Given the description of an element on the screen output the (x, y) to click on. 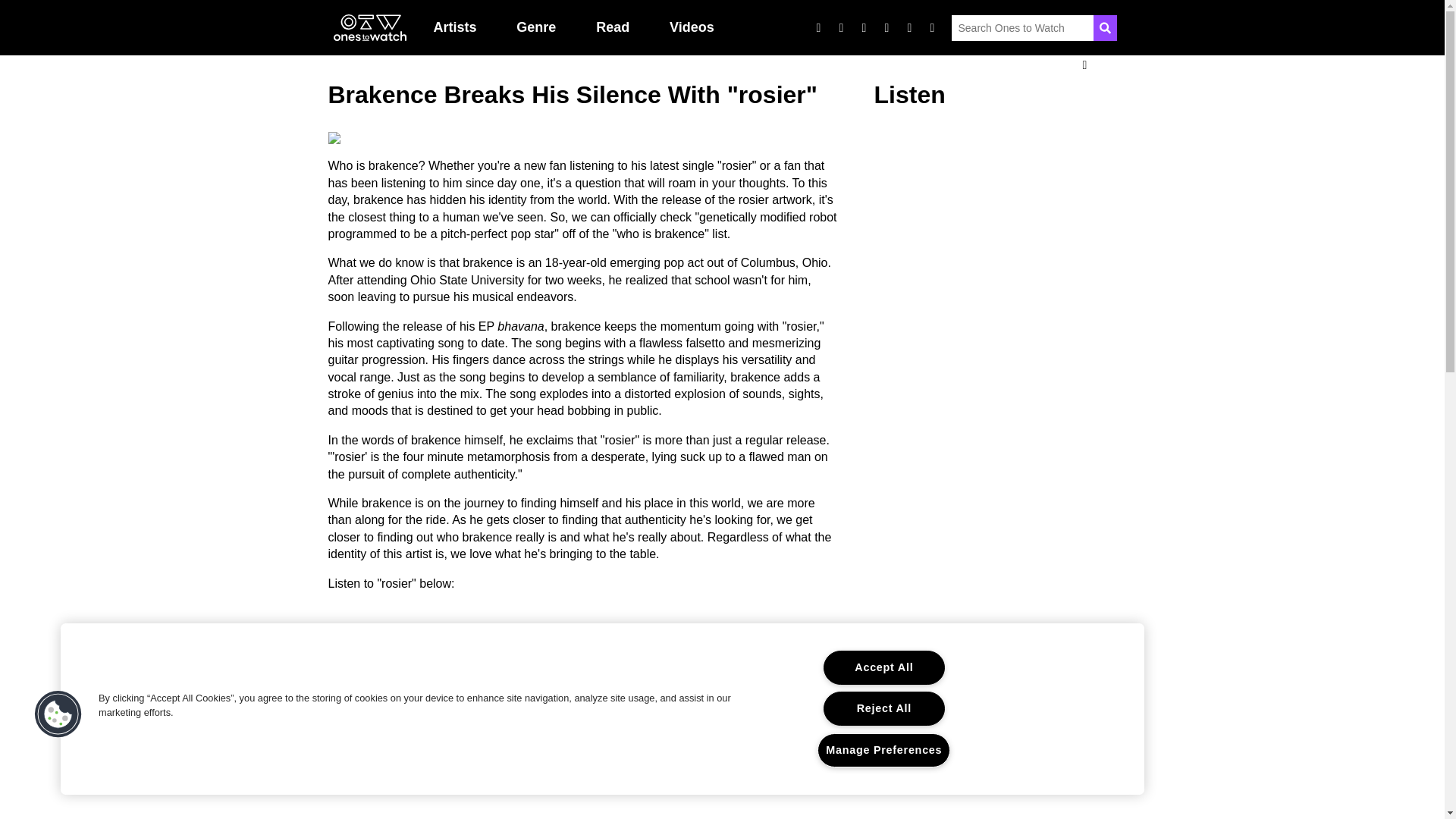
Videos (692, 27)
Ones2Watch Home (369, 27)
Artists (455, 27)
